Given the description of an element on the screen output the (x, y) to click on. 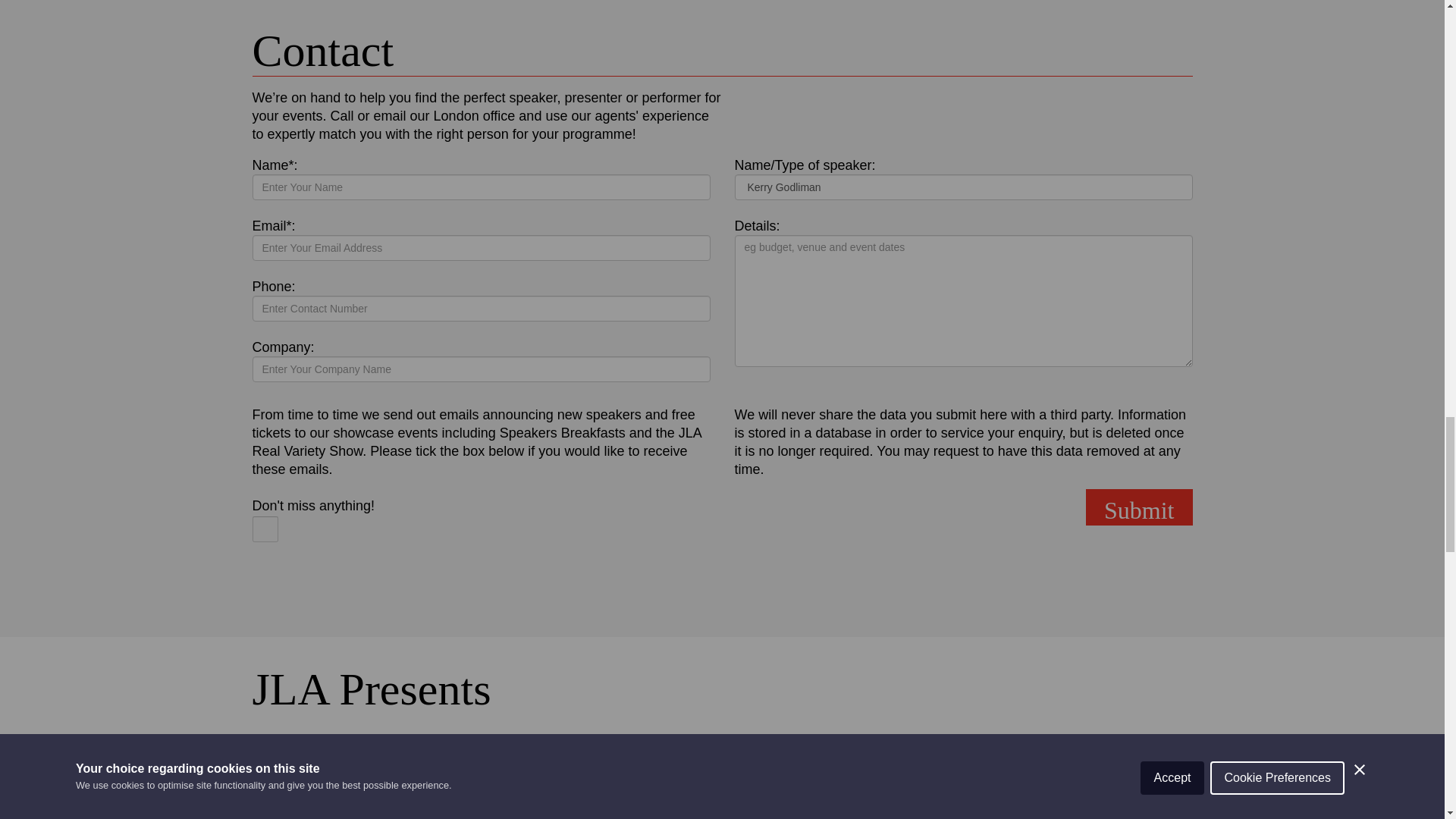
on (264, 529)
 Kerry Godliman (962, 186)
